Given the description of an element on the screen output the (x, y) to click on. 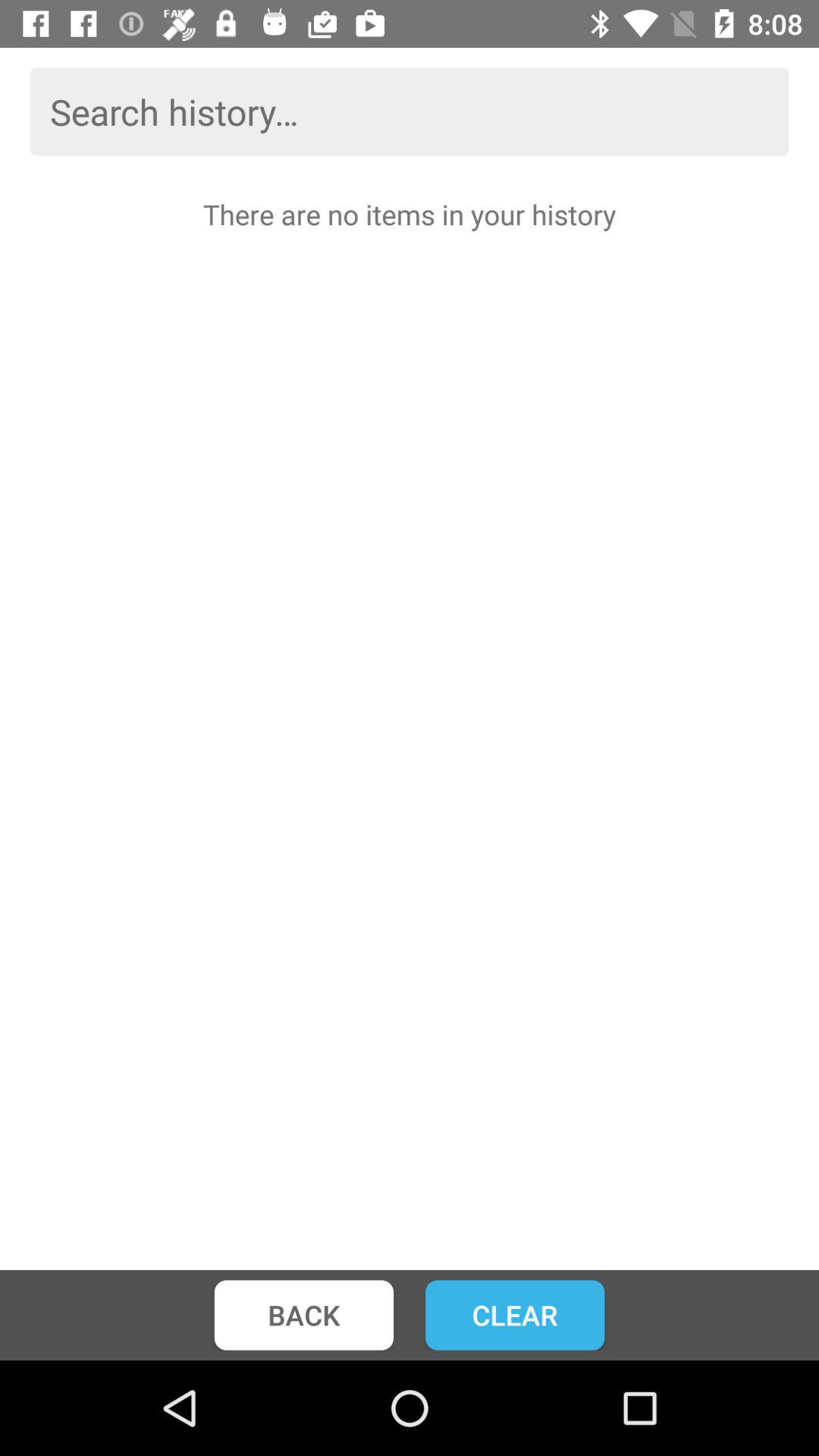
search bar (409, 111)
